Given the description of an element on the screen output the (x, y) to click on. 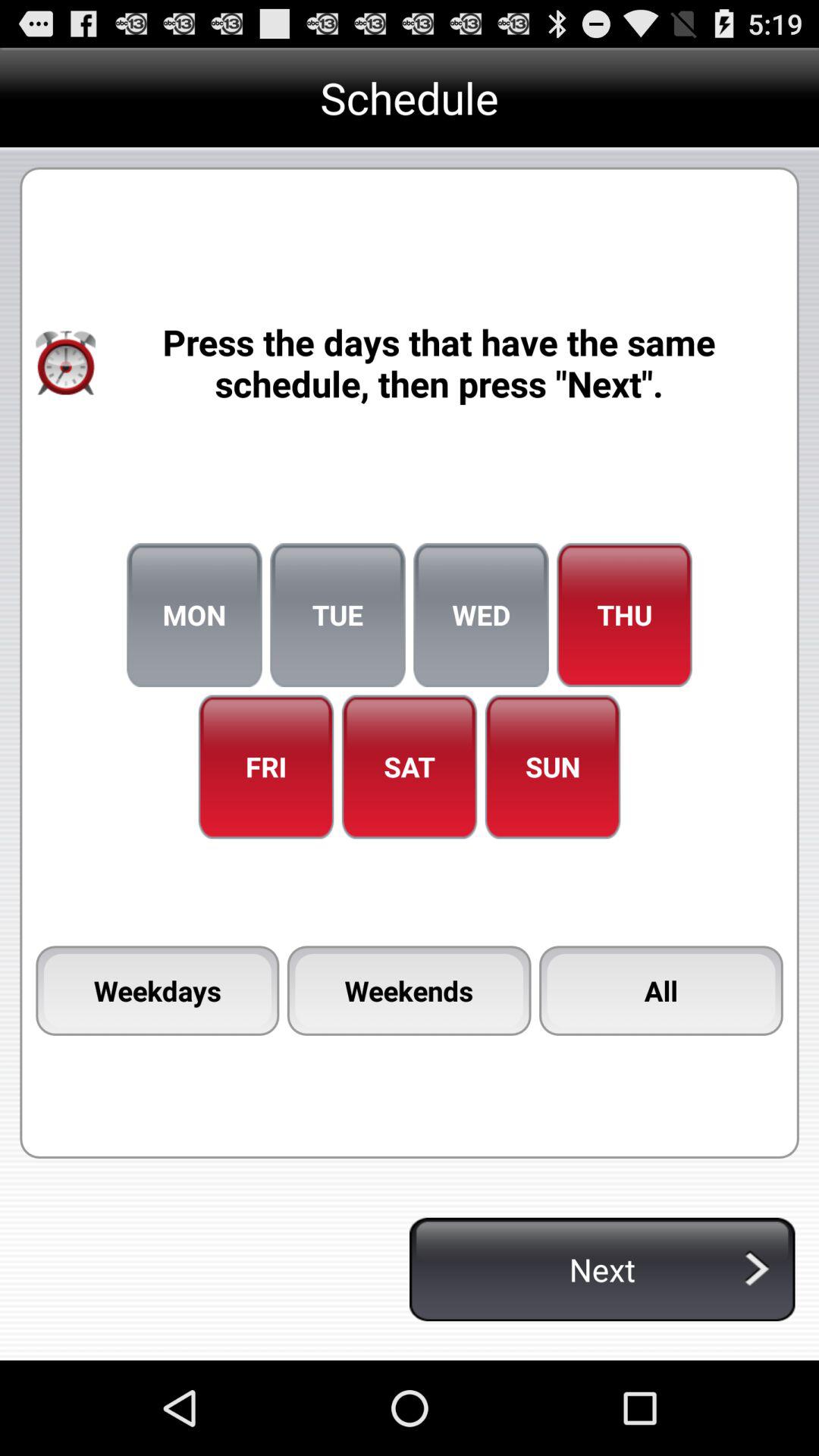
turn on the item at the bottom (409, 990)
